Given the description of an element on the screen output the (x, y) to click on. 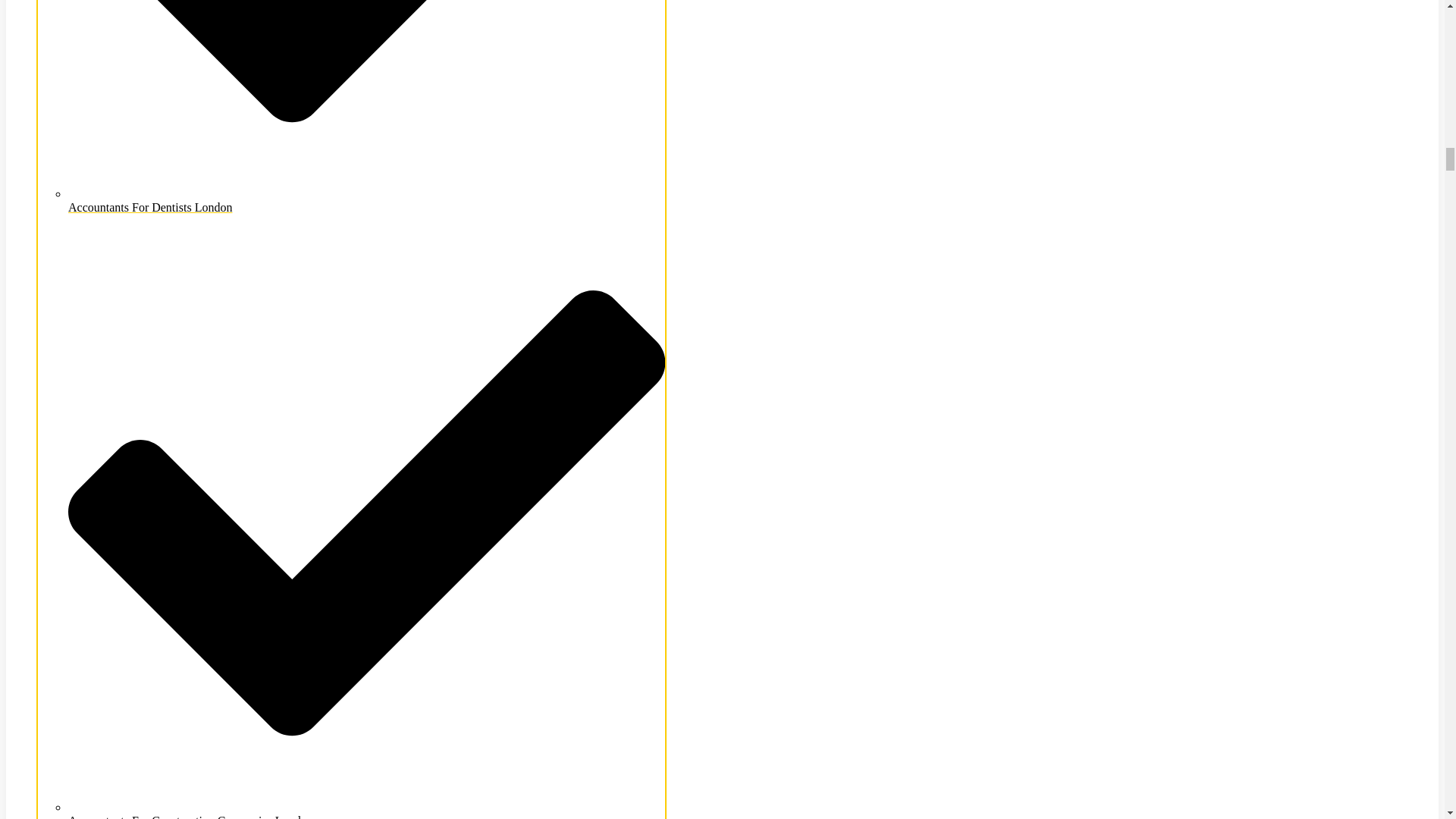
Accountants For Dentists London (366, 200)
Accountants For Construction Companies London (366, 809)
